Given the description of an element on the screen output the (x, y) to click on. 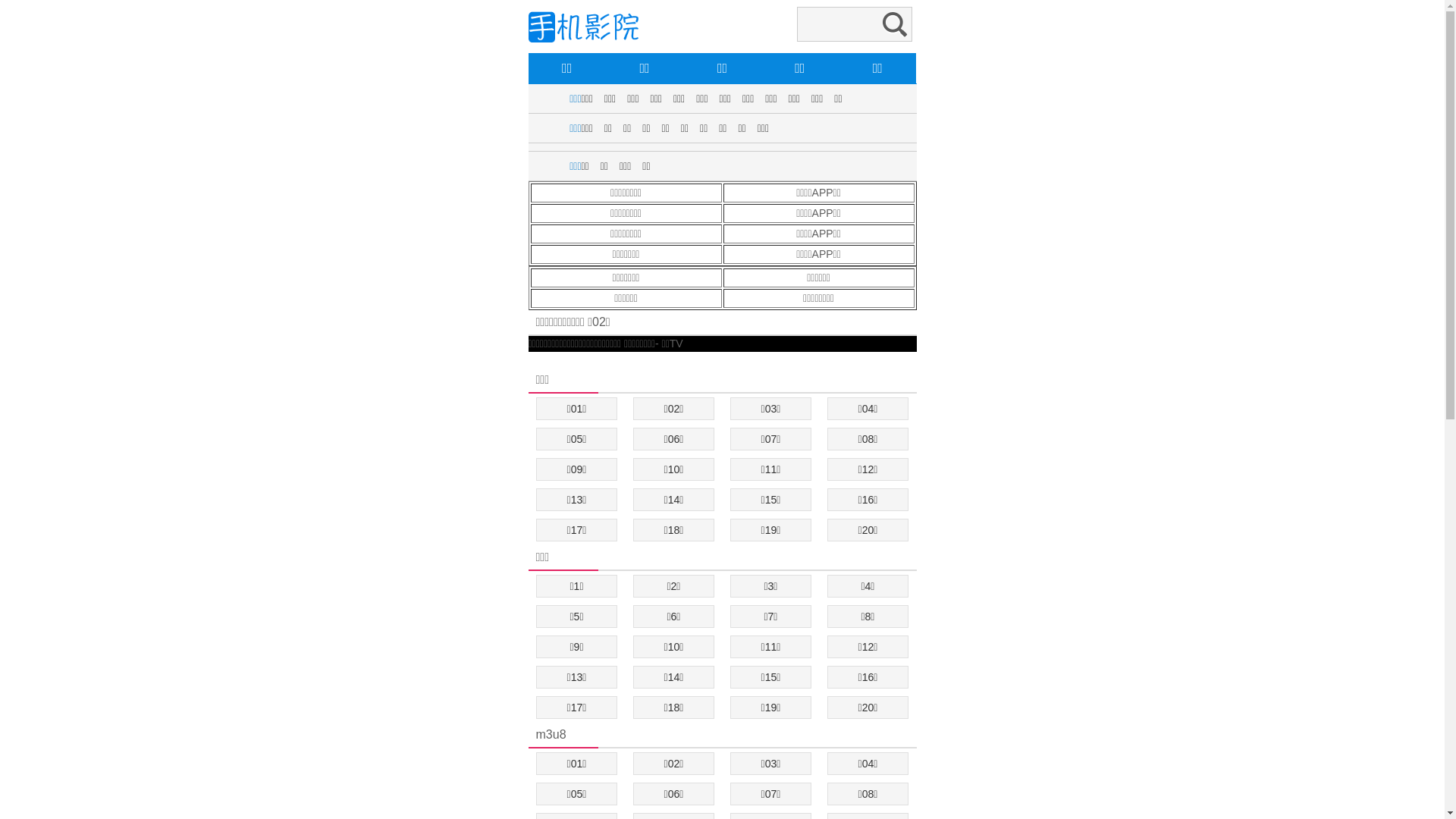
  Element type: text (528, 359)
